Given the description of an element on the screen output the (x, y) to click on. 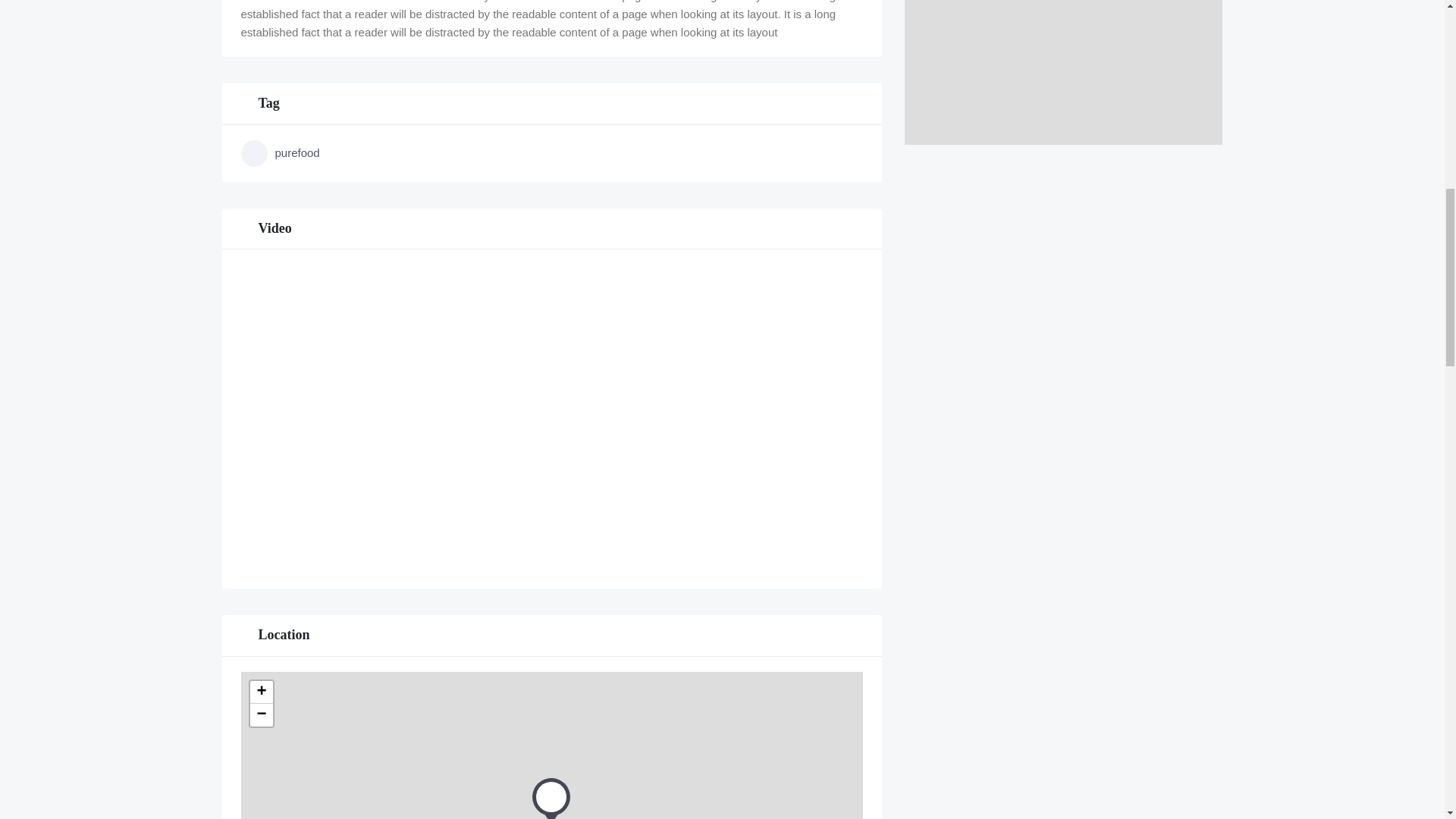
Zoom in (261, 691)
purefood (344, 153)
Zoom out (261, 714)
